Given the description of an element on the screen output the (x, y) to click on. 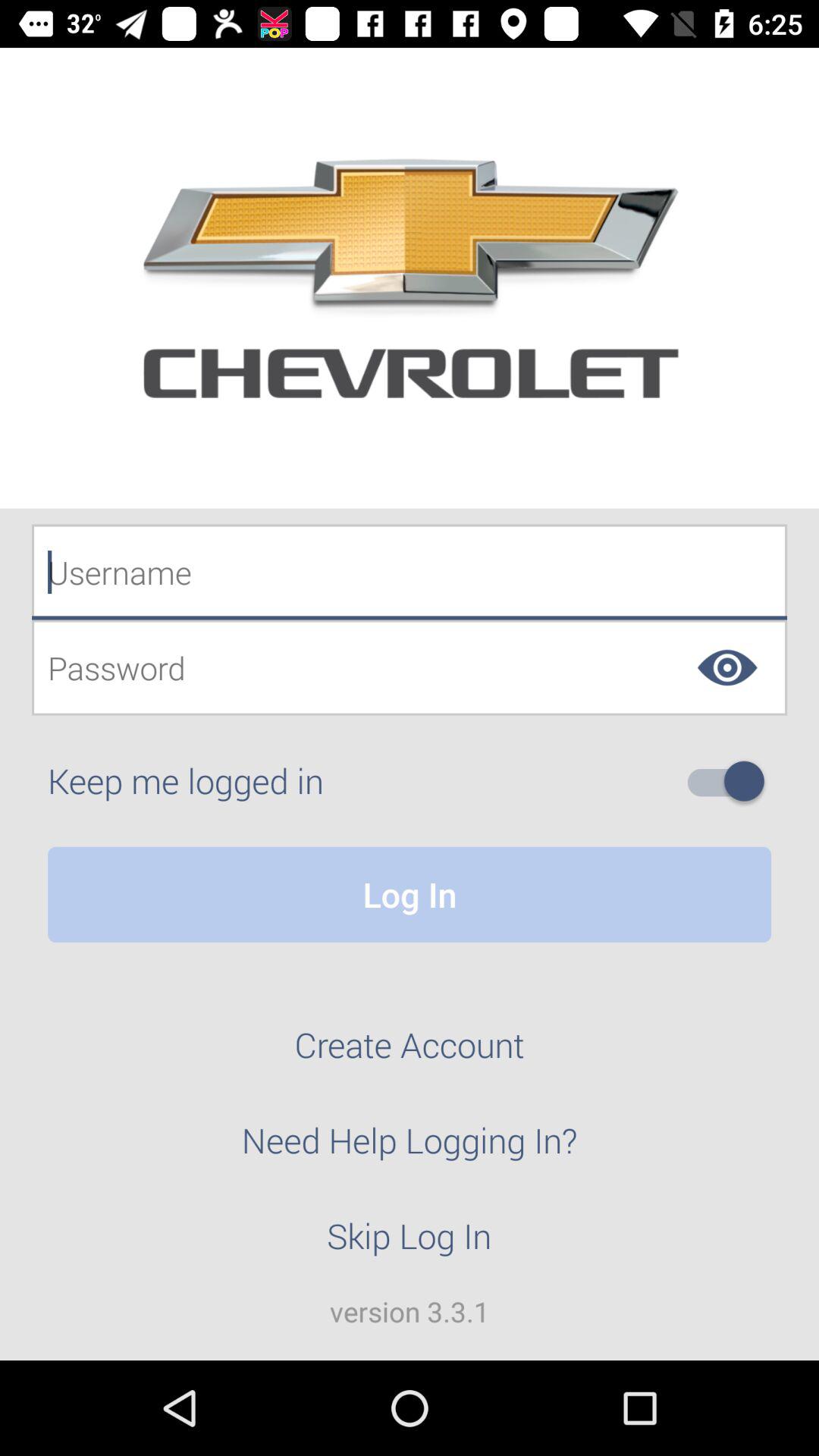
password entry (409, 667)
